Given the description of an element on the screen output the (x, y) to click on. 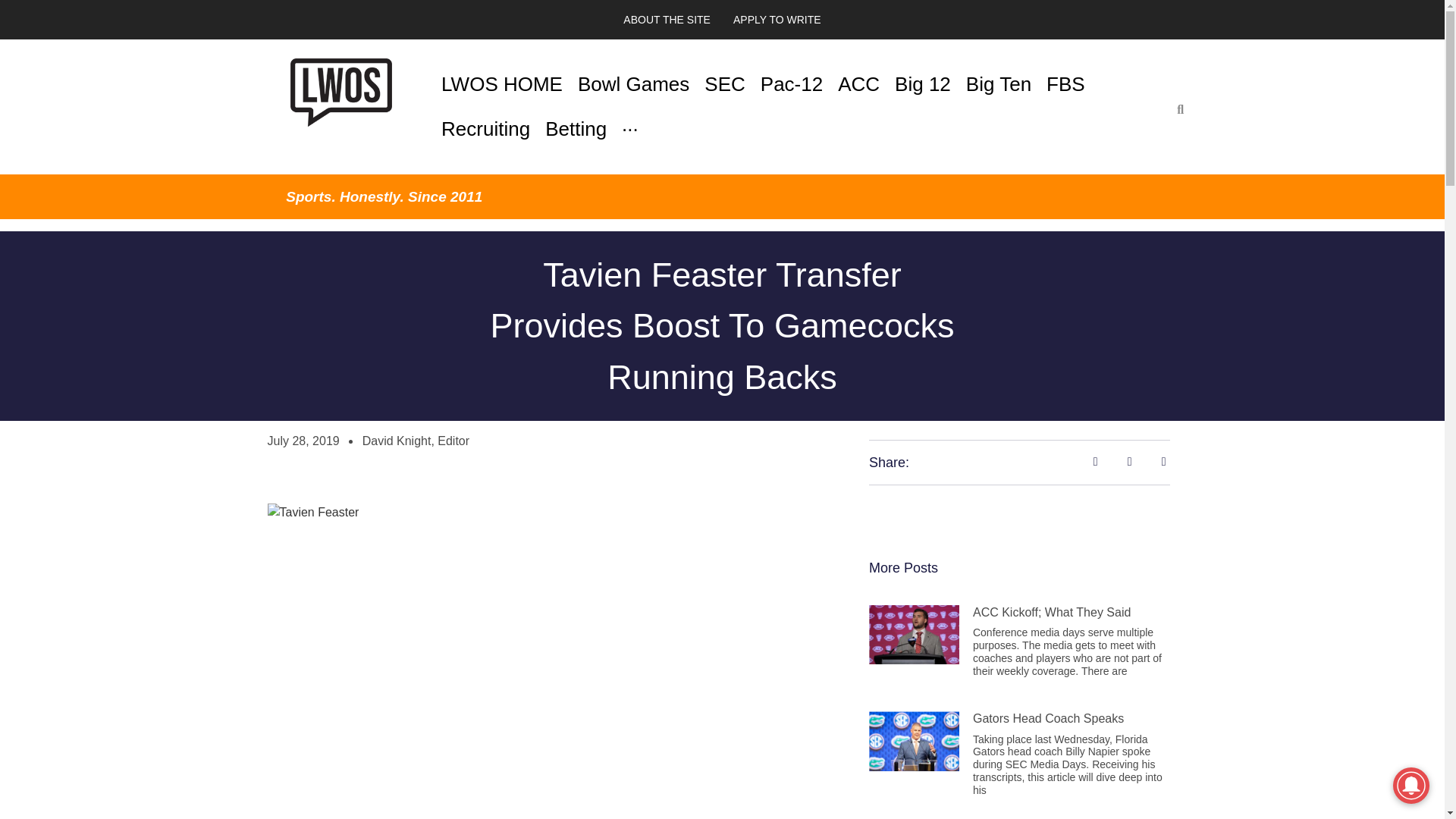
LWOS HOME (501, 84)
APPLY TO WRITE (777, 19)
ABOUT THE SITE (667, 19)
